Given the description of an element on the screen output the (x, y) to click on. 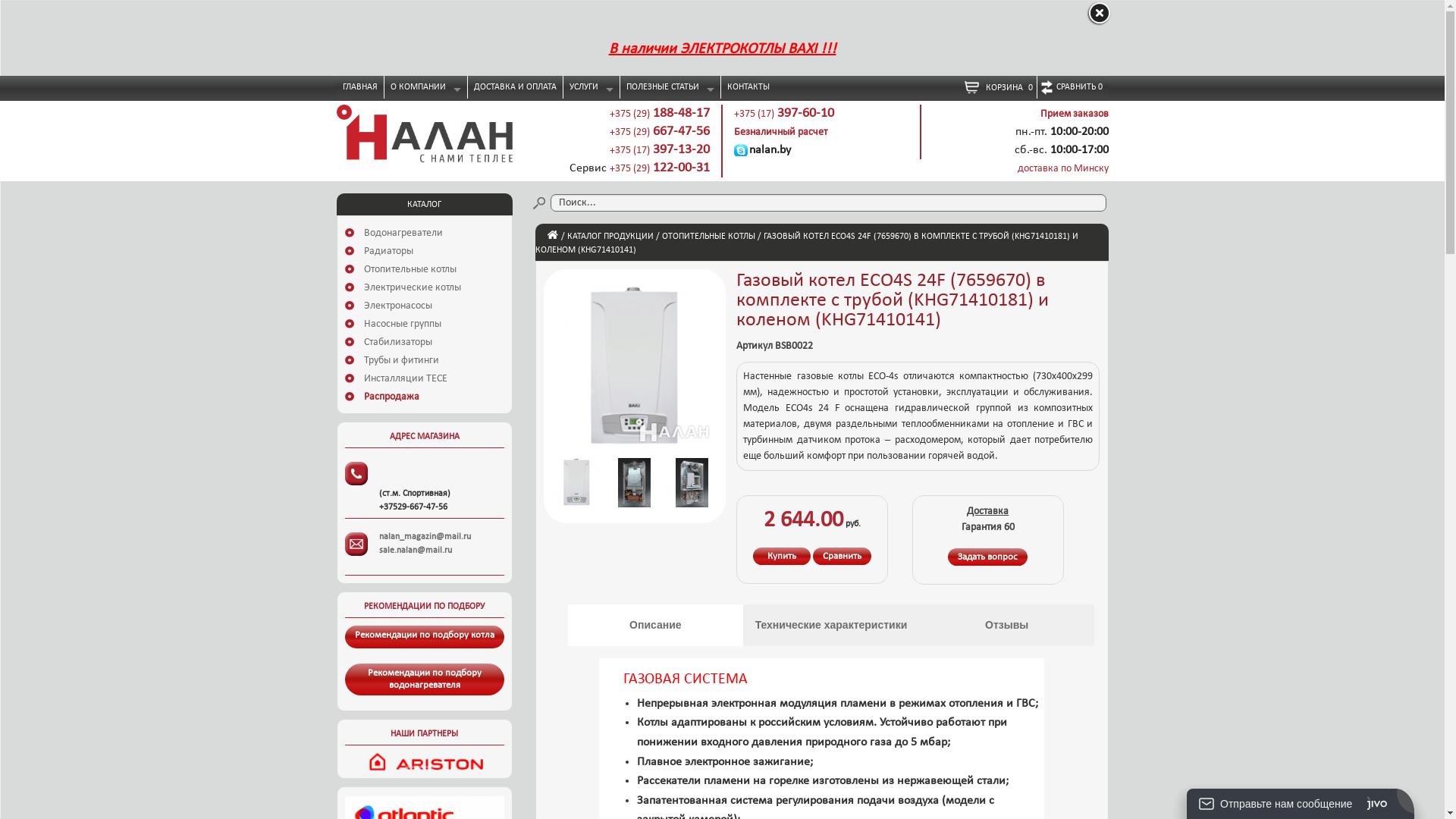
+375 (29) 188-48-17 Element type: text (659, 113)
+375 (17) 397-13-20 Element type: text (659, 150)
+375 (29) 122-00-31 Element type: text (659, 168)
nalan_magazin@mail.ru Element type: text (424, 536)
Close Element type: hover (1097, 13)
+375 (29) 667-47-56 Element type: text (659, 131)
sale.nalan@mail.ru Element type: text (415, 550)
